Given the description of an element on the screen output the (x, y) to click on. 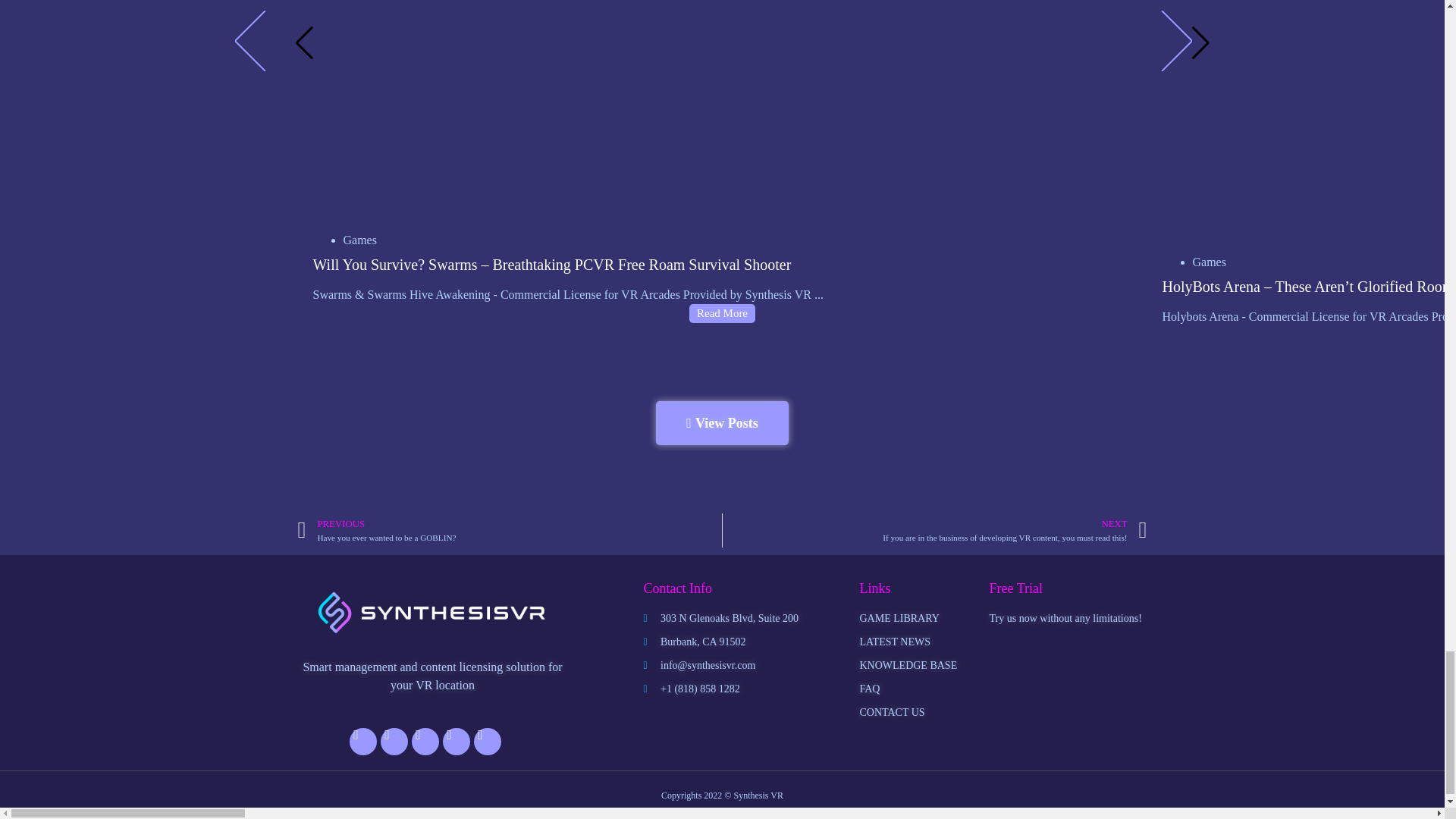
Games (358, 239)
Read More (721, 312)
Games (1208, 261)
